Given the description of an element on the screen output the (x, y) to click on. 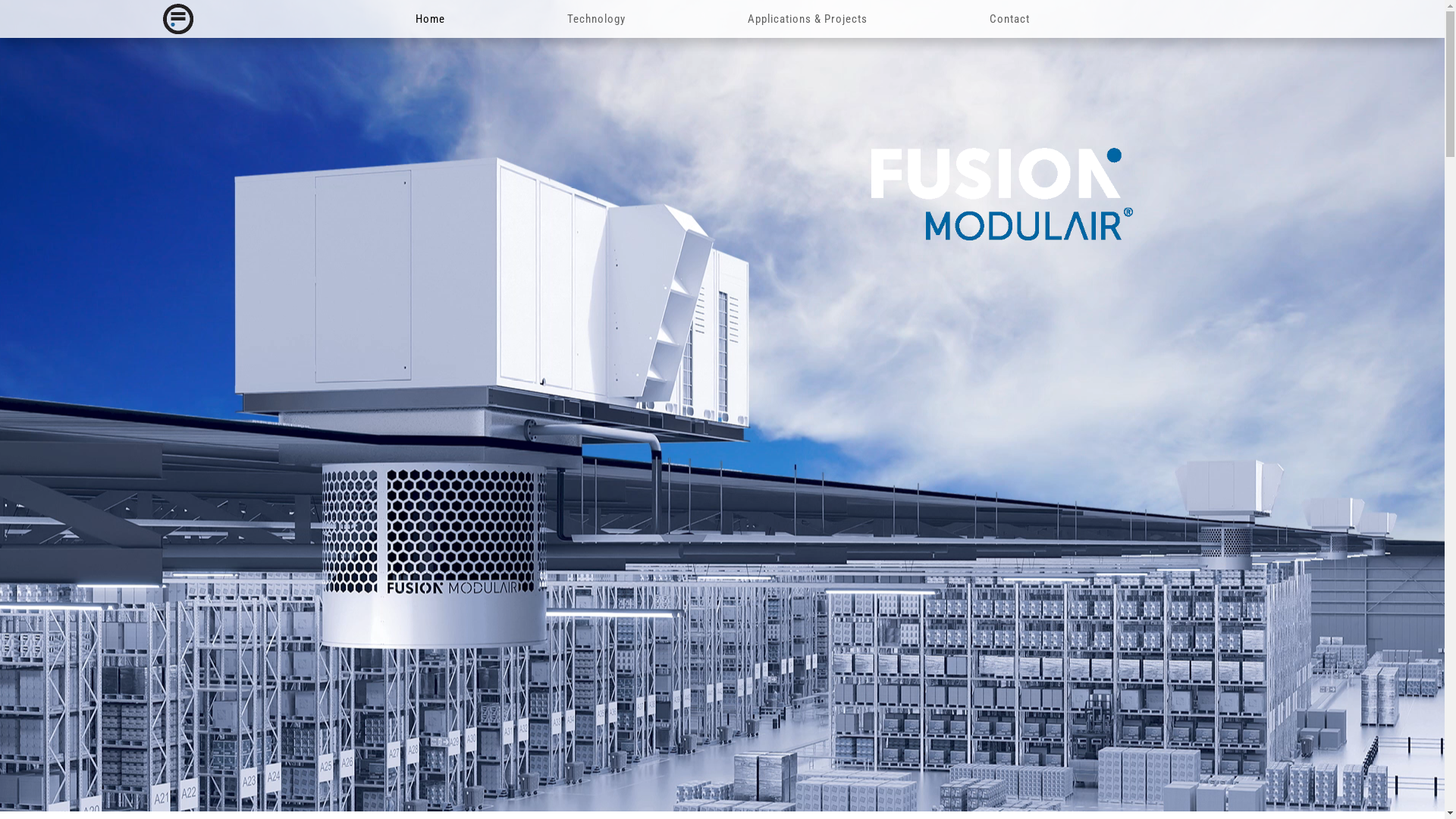
Home Element type: text (429, 18)
Contact Element type: text (1008, 18)
Fusion Modulair -  Element type: hover (177, 18)
Applications & Projects Element type: text (807, 18)
Technology Element type: text (596, 18)
